Given the description of an element on the screen output the (x, y) to click on. 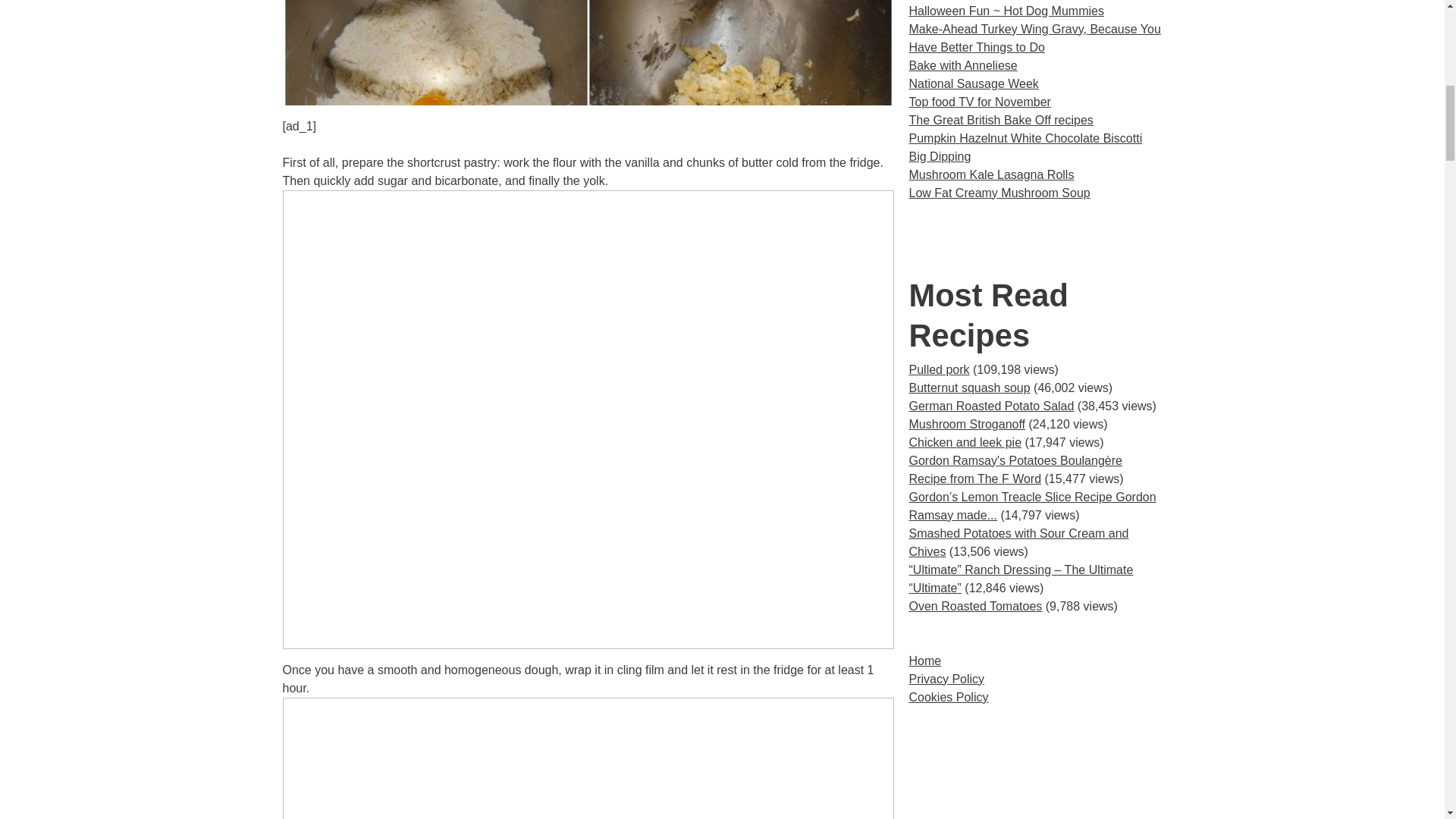
German Roasted Potato Salad (991, 405)
Butternut squash soup (968, 387)
Smashed Potatoes with Sour Cream and Chives (1018, 542)
Mushroom Stroganoff (966, 423)
Oven Roasted Tomatoes (975, 605)
Chicken and leek pie (965, 441)
Pulled pork (938, 369)
